Given the description of an element on the screen output the (x, y) to click on. 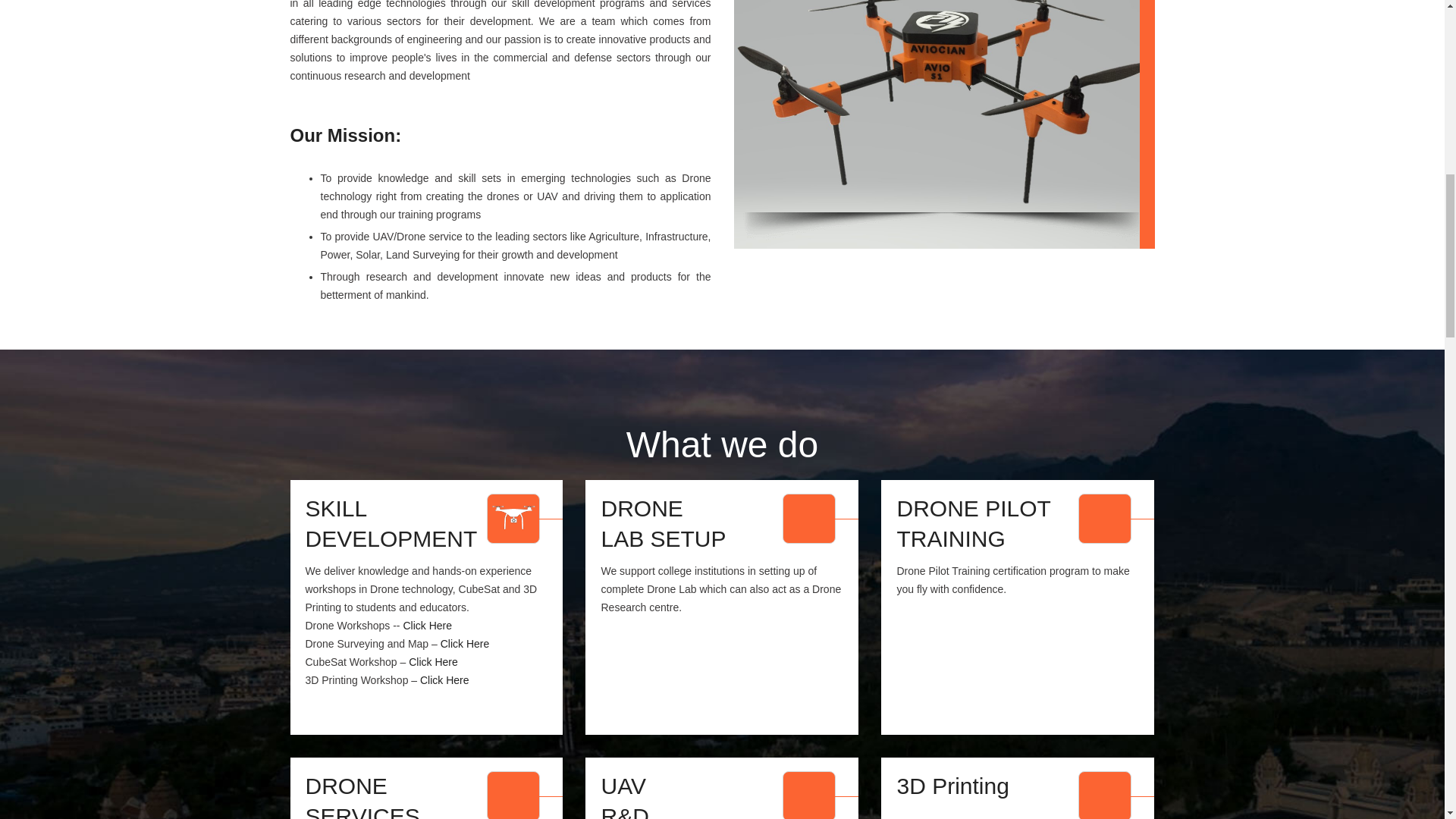
3D Printing (952, 787)
Click Here (427, 625)
Click Here (662, 525)
Click Here (465, 644)
Click Here (433, 662)
